Given the description of an element on the screen output the (x, y) to click on. 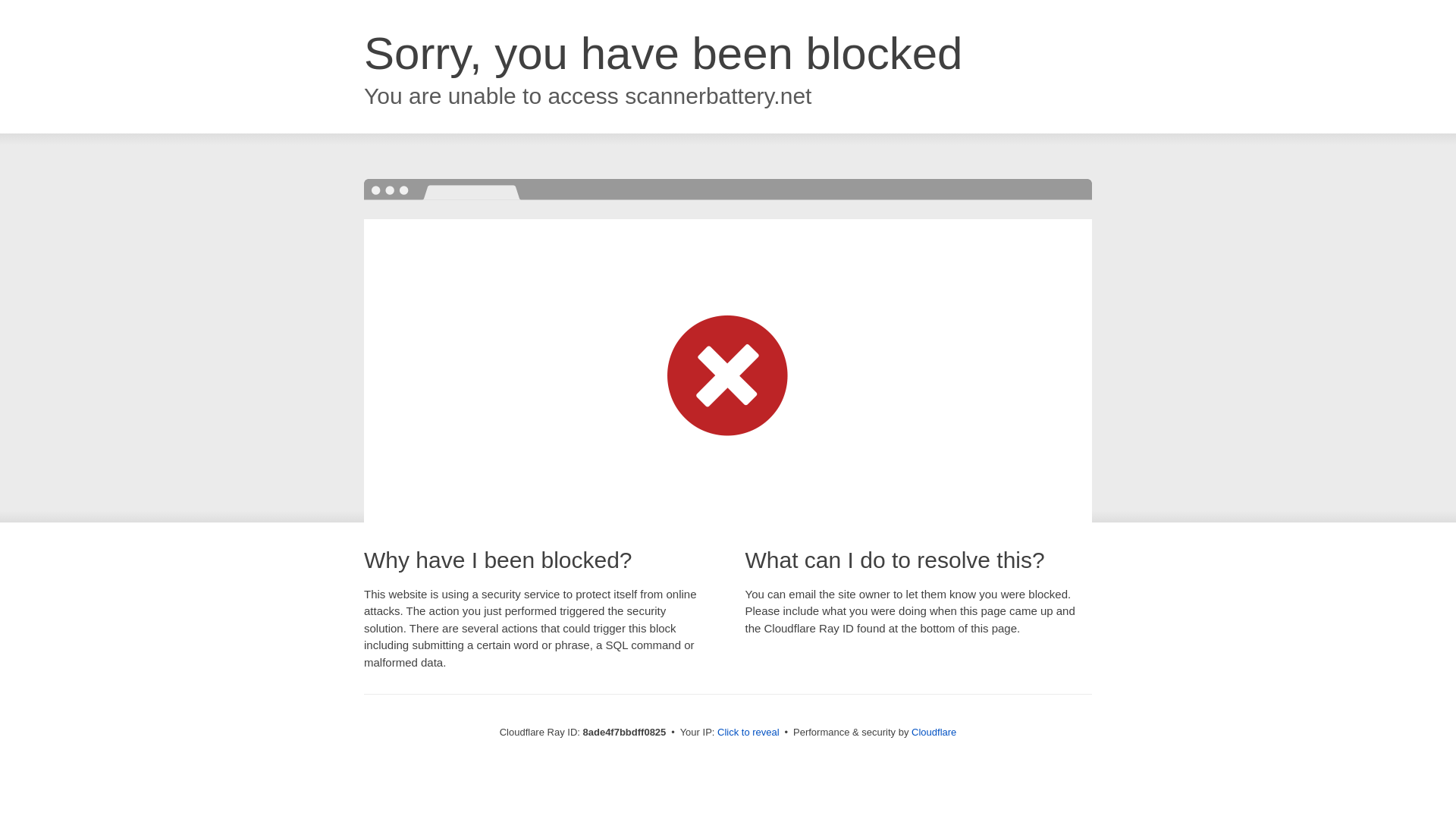
Cloudflare (933, 731)
Click to reveal (747, 732)
